Given the description of an element on the screen output the (x, y) to click on. 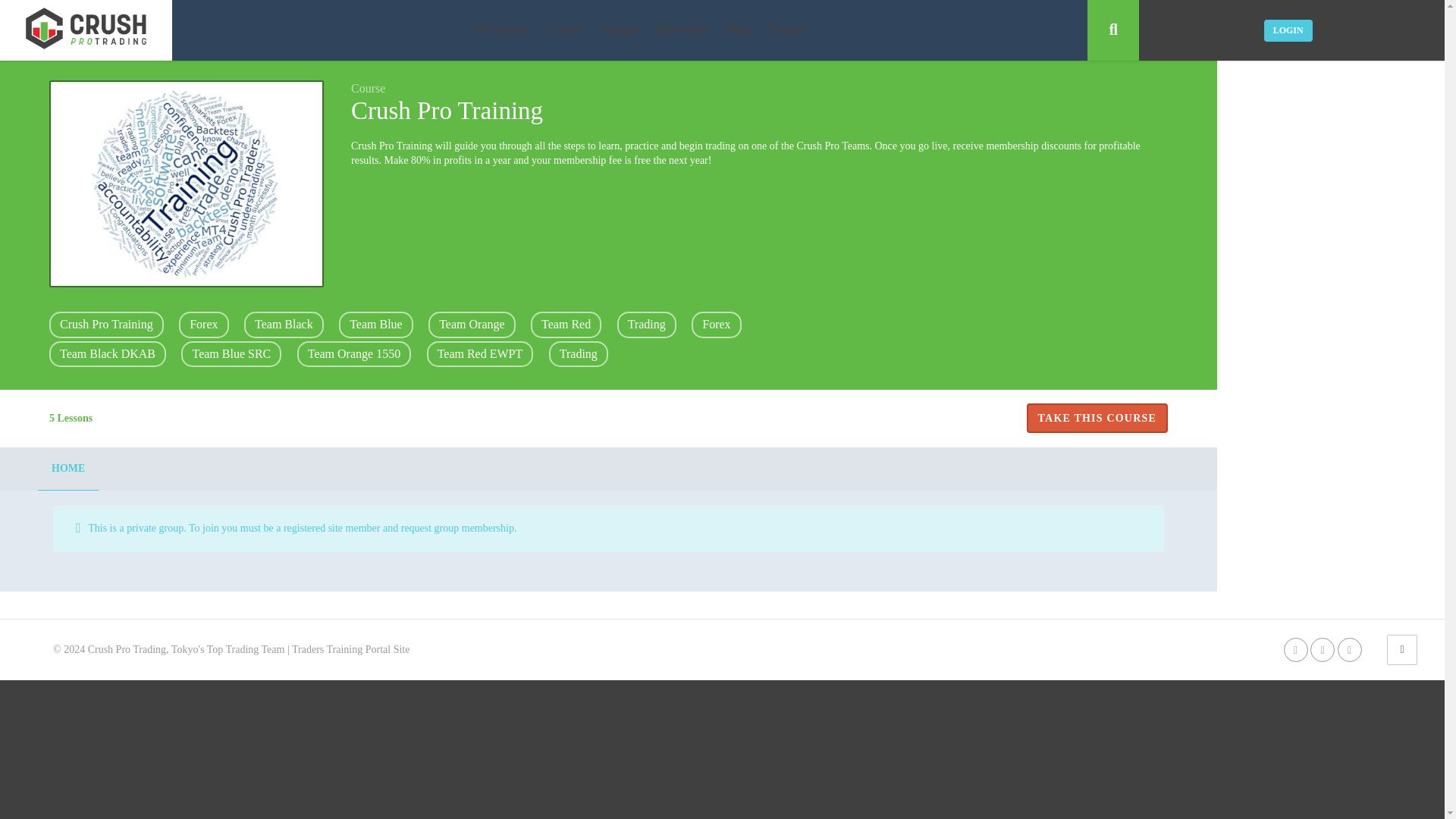
Take this Course (1096, 418)
Levels (564, 29)
Team Blue SRC (230, 353)
HOME (68, 468)
Team Orange 1550 (353, 353)
More Info (681, 29)
Contact (787, 29)
Crush Pro Training (106, 324)
Blog (738, 29)
linkedin (1349, 649)
Team Red EWPT (480, 353)
facebook (1294, 649)
Take this Course (1096, 418)
Team Red (566, 324)
Team Blue (376, 324)
